Given the description of an element on the screen output the (x, y) to click on. 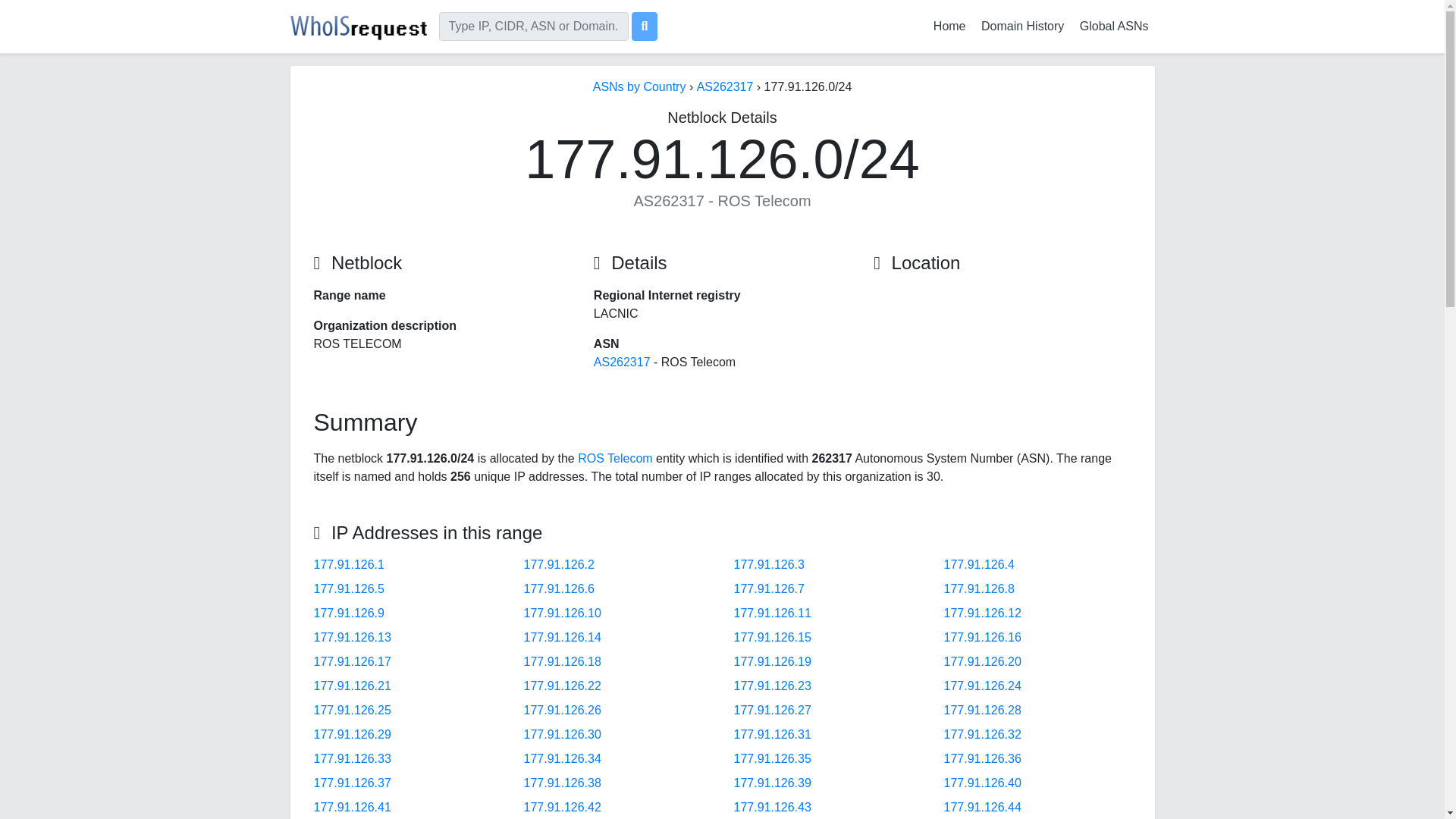
177.91.126.27 (771, 709)
177.91.126.6 (558, 588)
177.91.126.11 (771, 612)
177.91.126.22 (560, 685)
Home (949, 25)
AS262317 (622, 361)
177.91.126.18 (560, 661)
177.91.126.24 (981, 685)
177.91.126.2 (558, 563)
177.91.126.7 (769, 588)
